Given the description of an element on the screen output the (x, y) to click on. 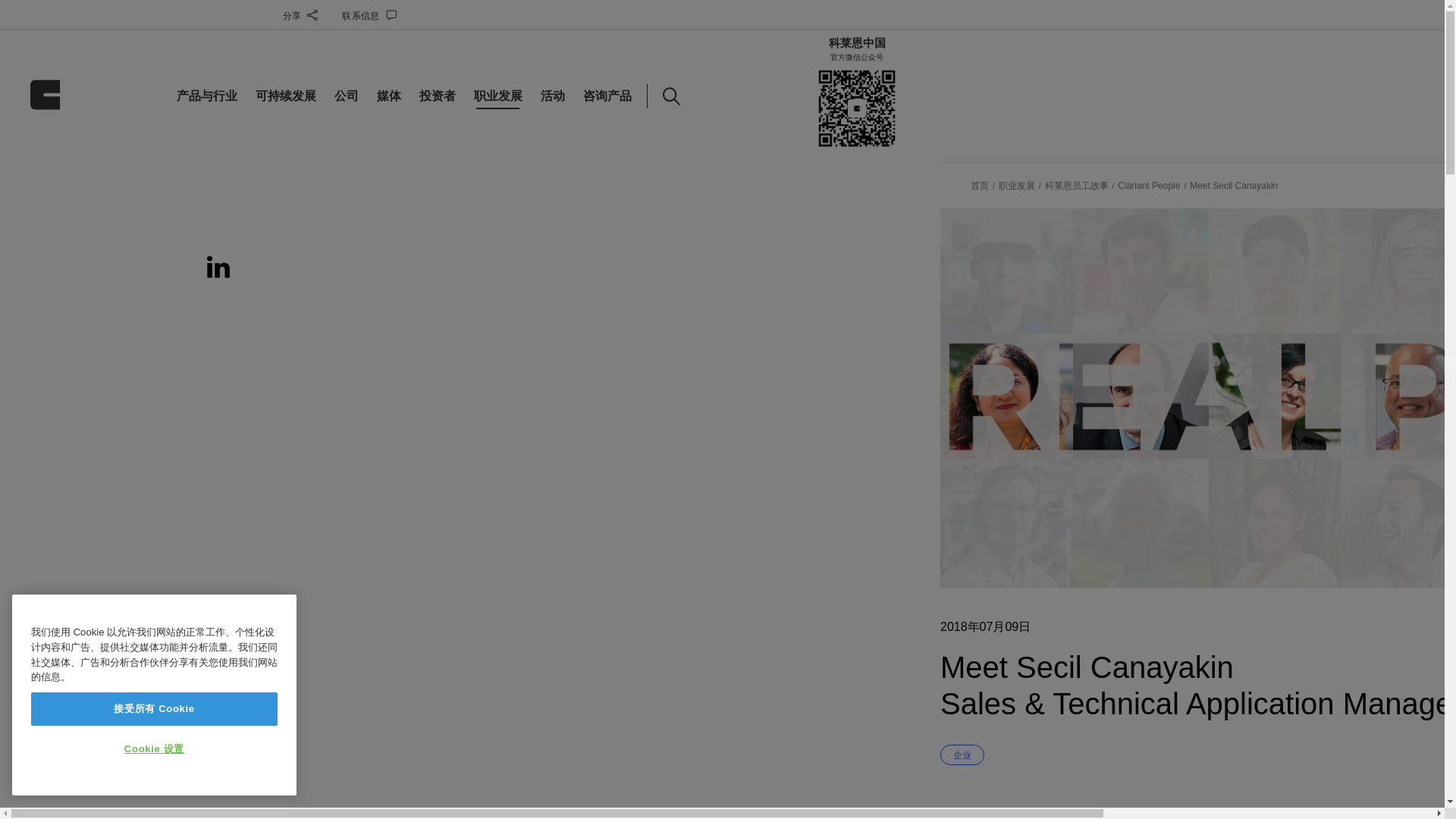
Clariant People (1148, 185)
